Given the description of an element on the screen output the (x, y) to click on. 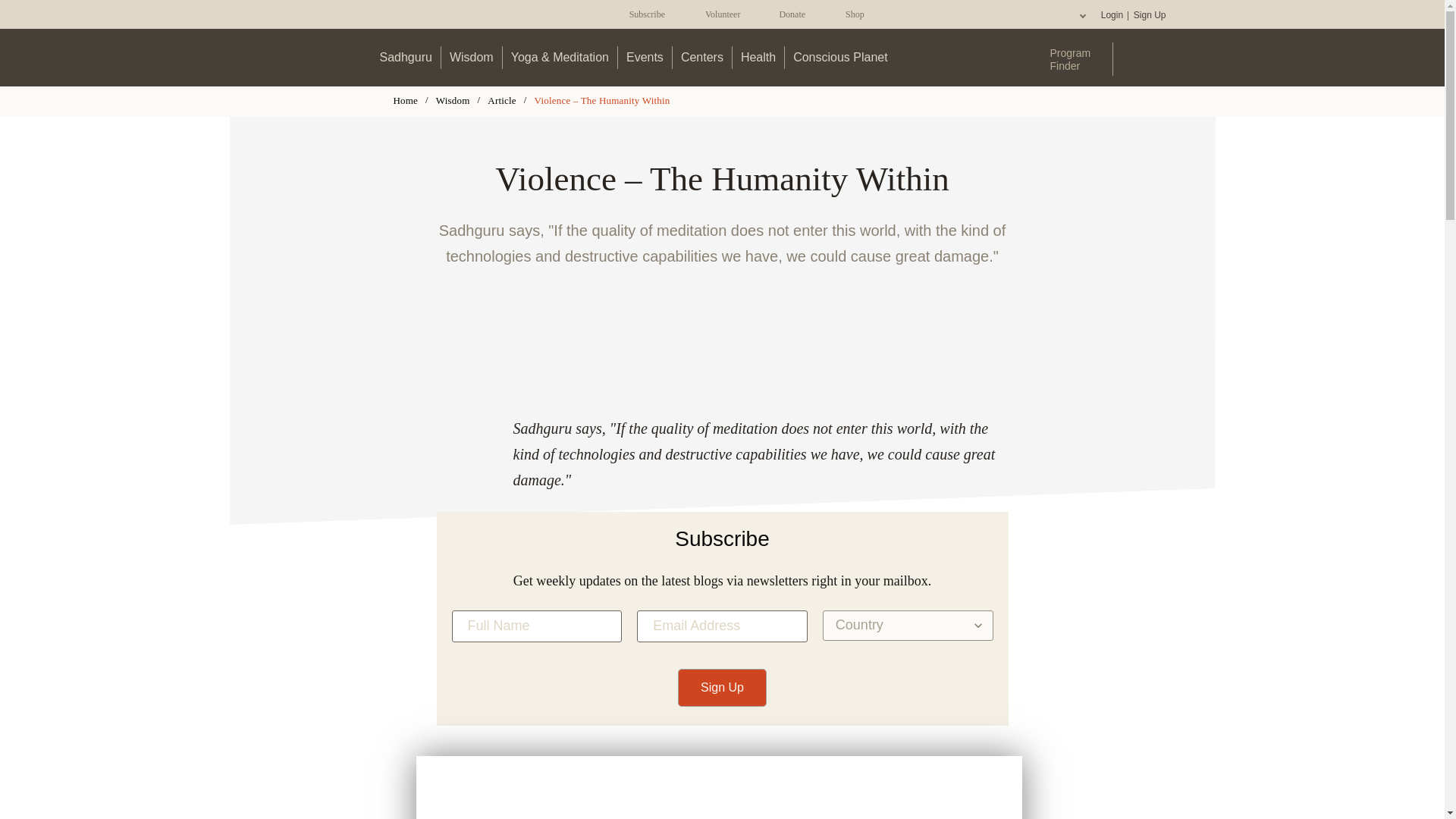
Sign Up (1149, 15)
Wisdom (471, 56)
Login (1112, 15)
Sadhguru (406, 56)
